Given the description of an element on the screen output the (x, y) to click on. 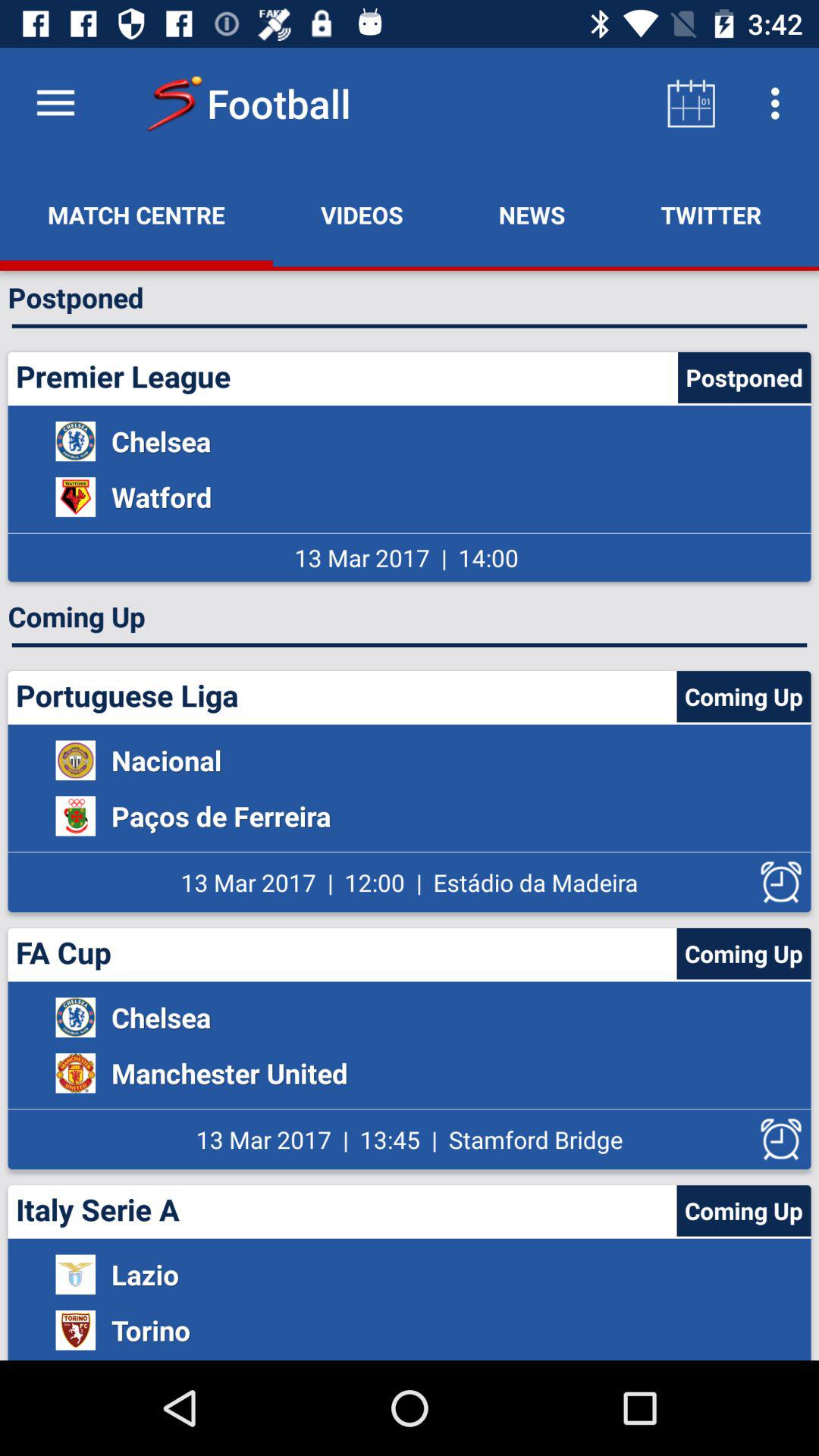
click item next to chat icon (711, 214)
